Given the description of an element on the screen output the (x, y) to click on. 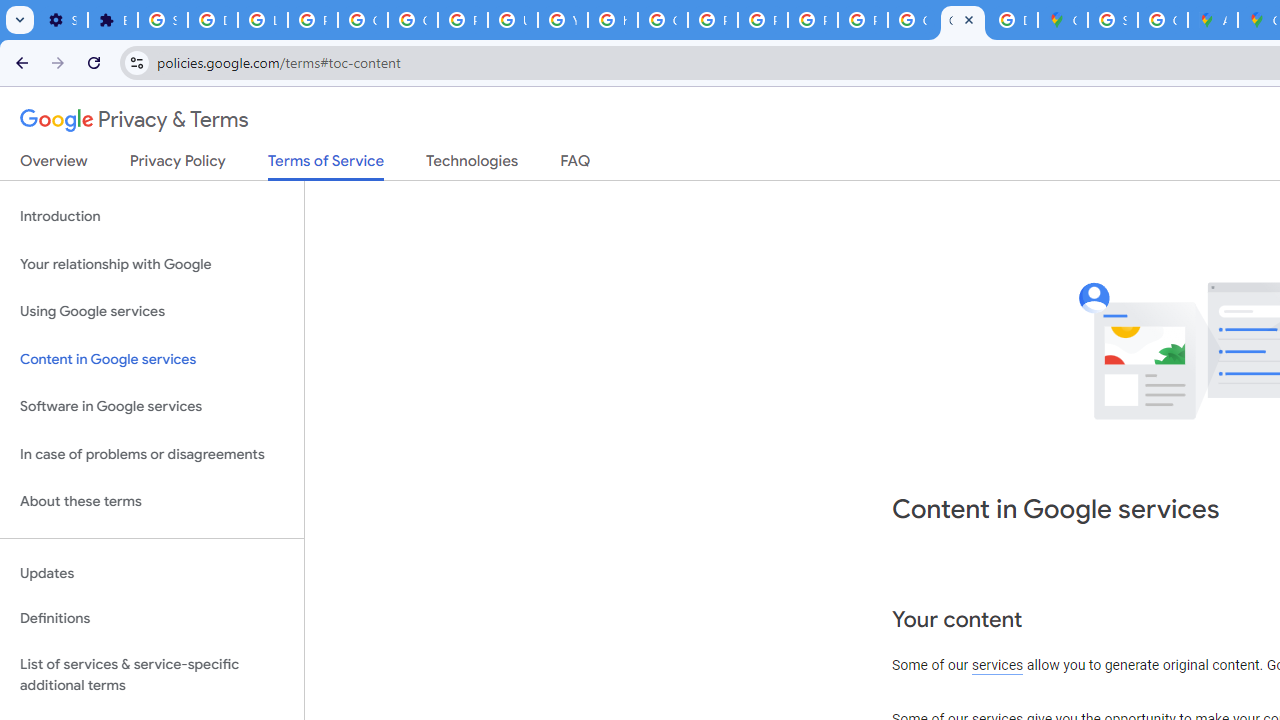
About these terms (152, 502)
YouTube (562, 20)
Google Maps (1062, 20)
Sign in - Google Accounts (1112, 20)
Definitions (152, 619)
Introduction (152, 216)
Your relationship with Google (152, 263)
